Given the description of an element on the screen output the (x, y) to click on. 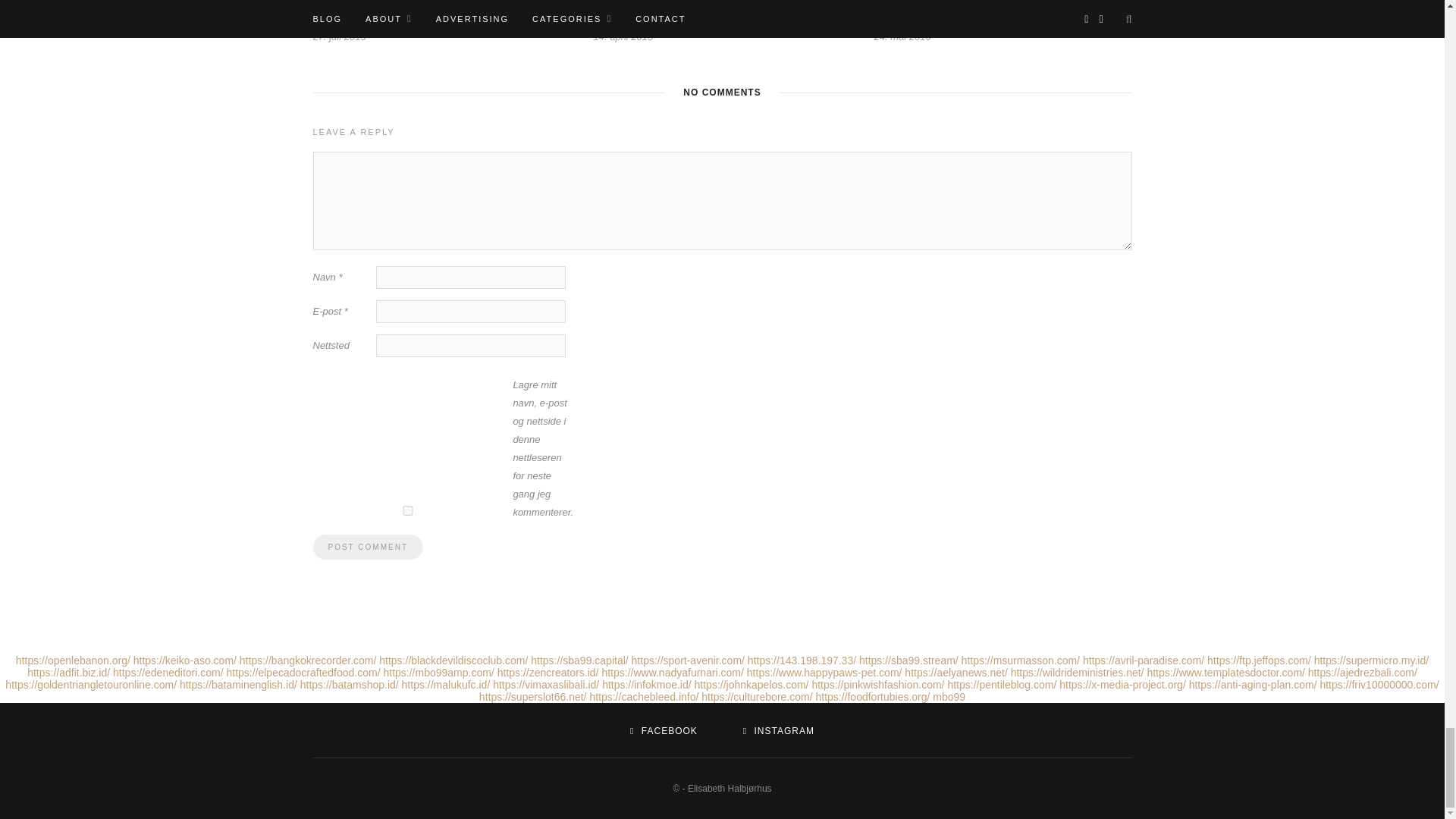
Post Comment (367, 546)
yes (407, 510)
